Given the description of an element on the screen output the (x, y) to click on. 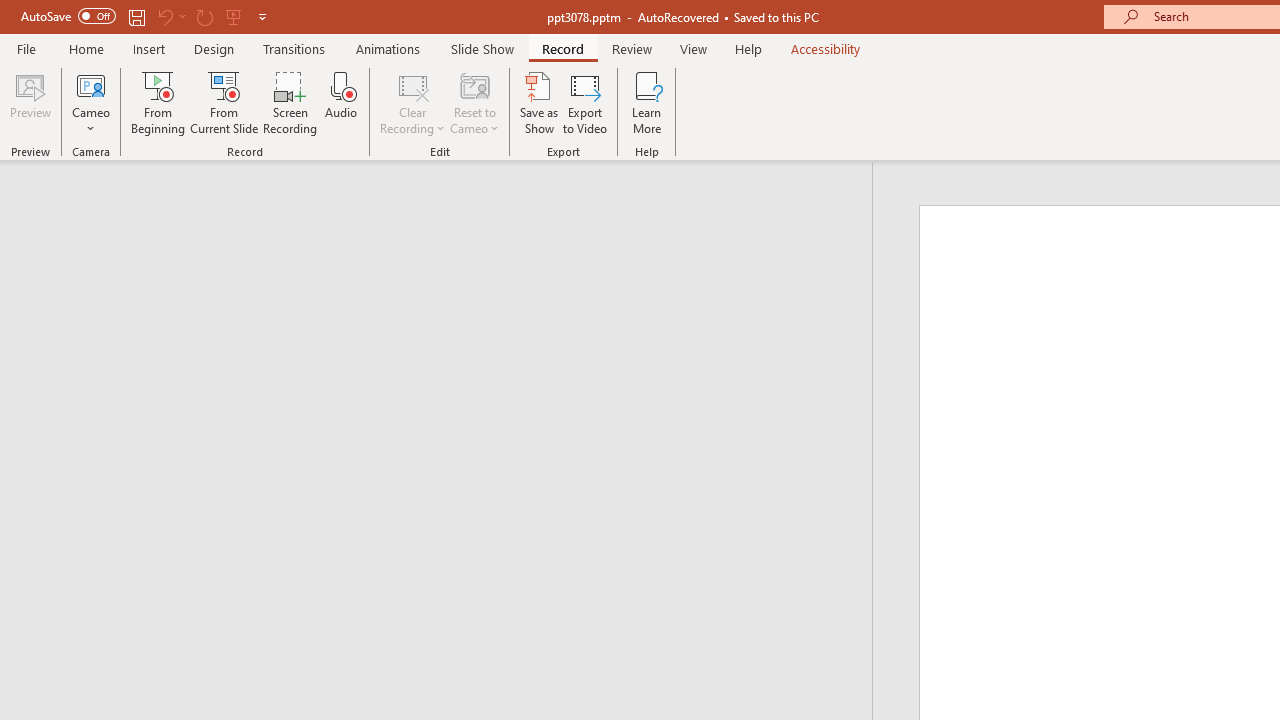
Outline (445, 202)
Reset to Cameo (474, 102)
